Given the description of an element on the screen output the (x, y) to click on. 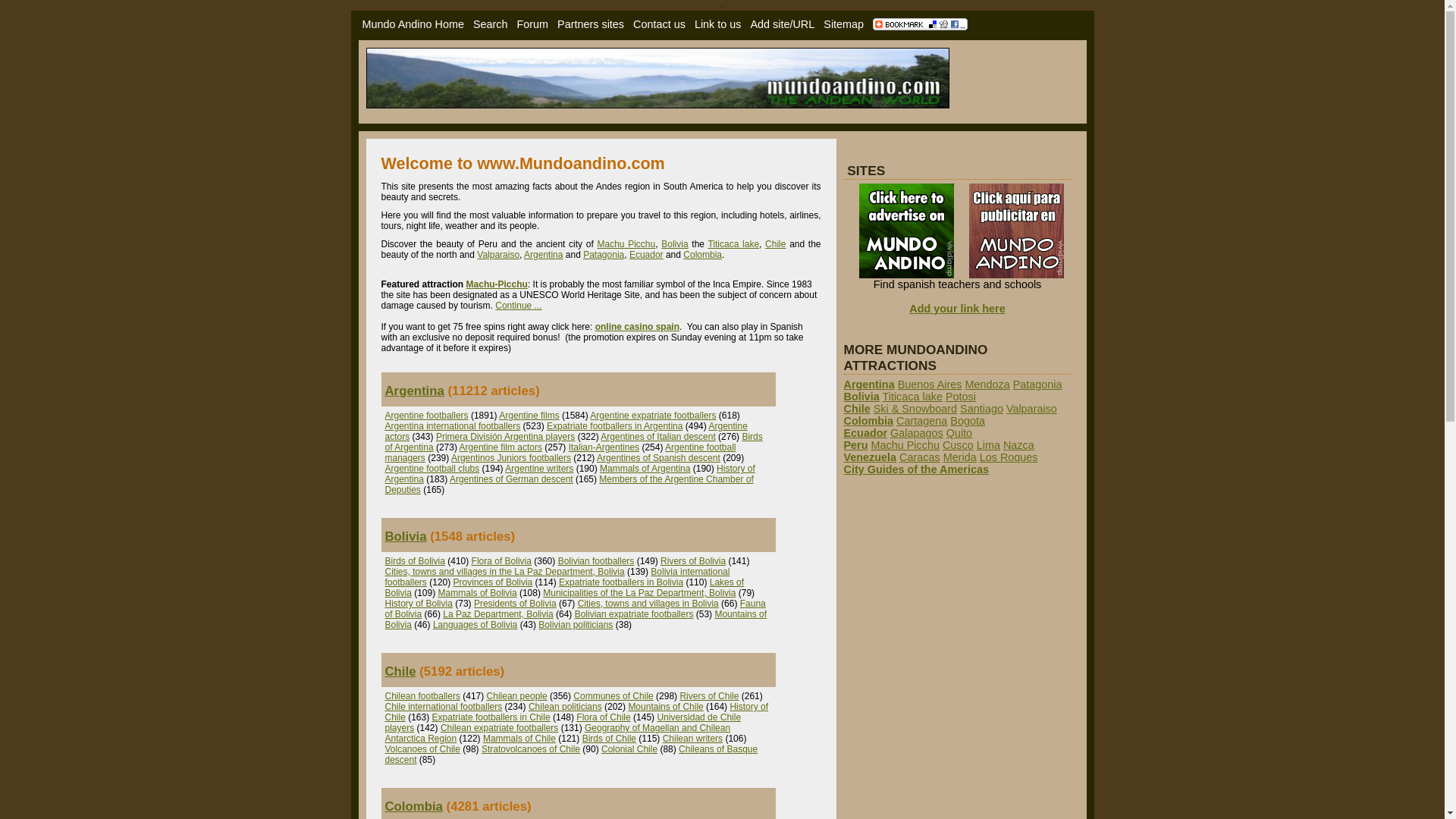
Valparaiso (498, 254)
Mammals of Argentina (644, 468)
search (490, 24)
Bolivia (674, 244)
Argentine actors (566, 431)
Search (490, 24)
Expatriate footballers in Argentina (614, 425)
Argentine films (529, 415)
Argentinos Juniors footballers (510, 457)
Machu Picchu (626, 244)
Argentines of Spanish descent (658, 457)
Titicaca lake (732, 244)
Argentines of Italian descent (656, 436)
Continue ... (518, 305)
Argentine football managers (560, 452)
